Given the description of an element on the screen output the (x, y) to click on. 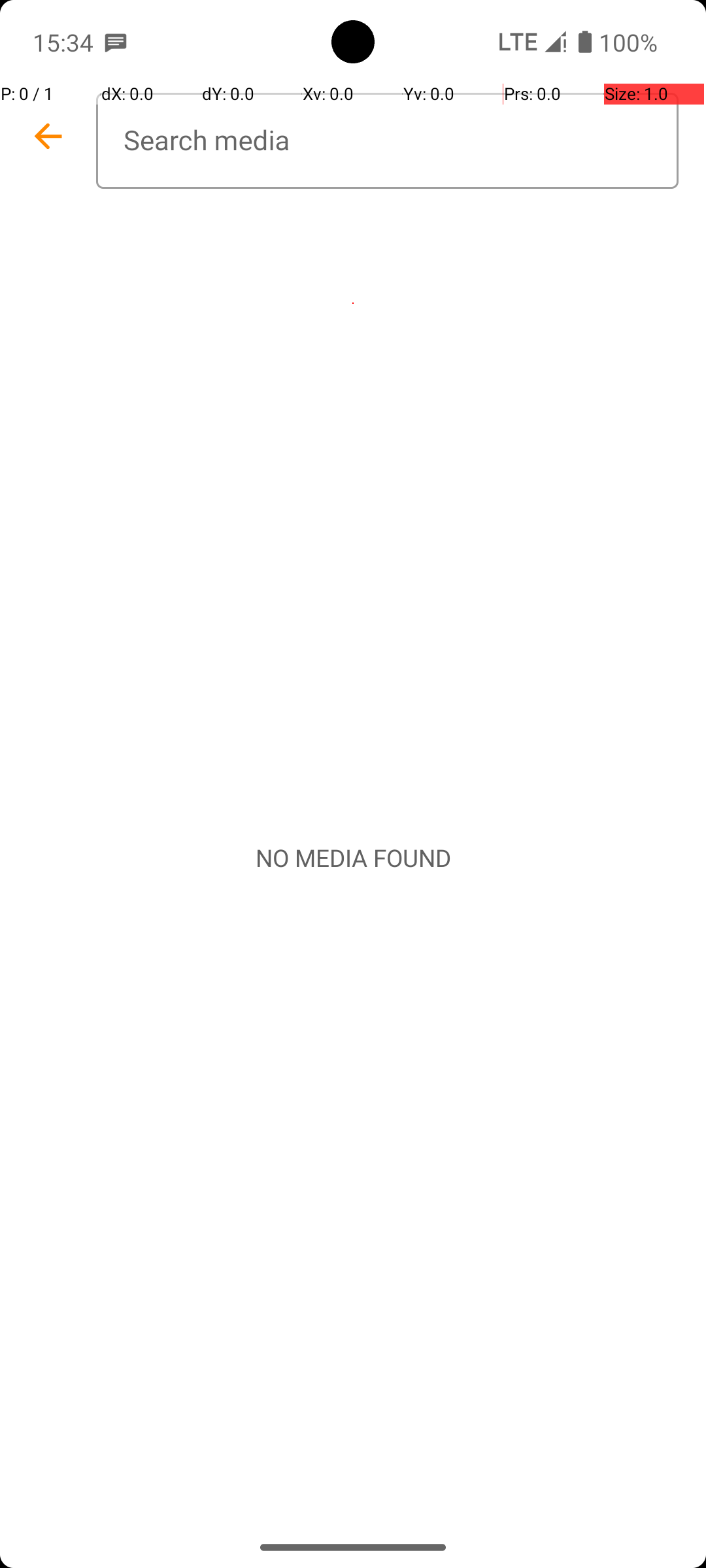
Search media Element type: android.widget.EditText (387, 140)
NO MEDIA FOUND Element type: android.widget.TextView (353, 857)
